Given the description of an element on the screen output the (x, y) to click on. 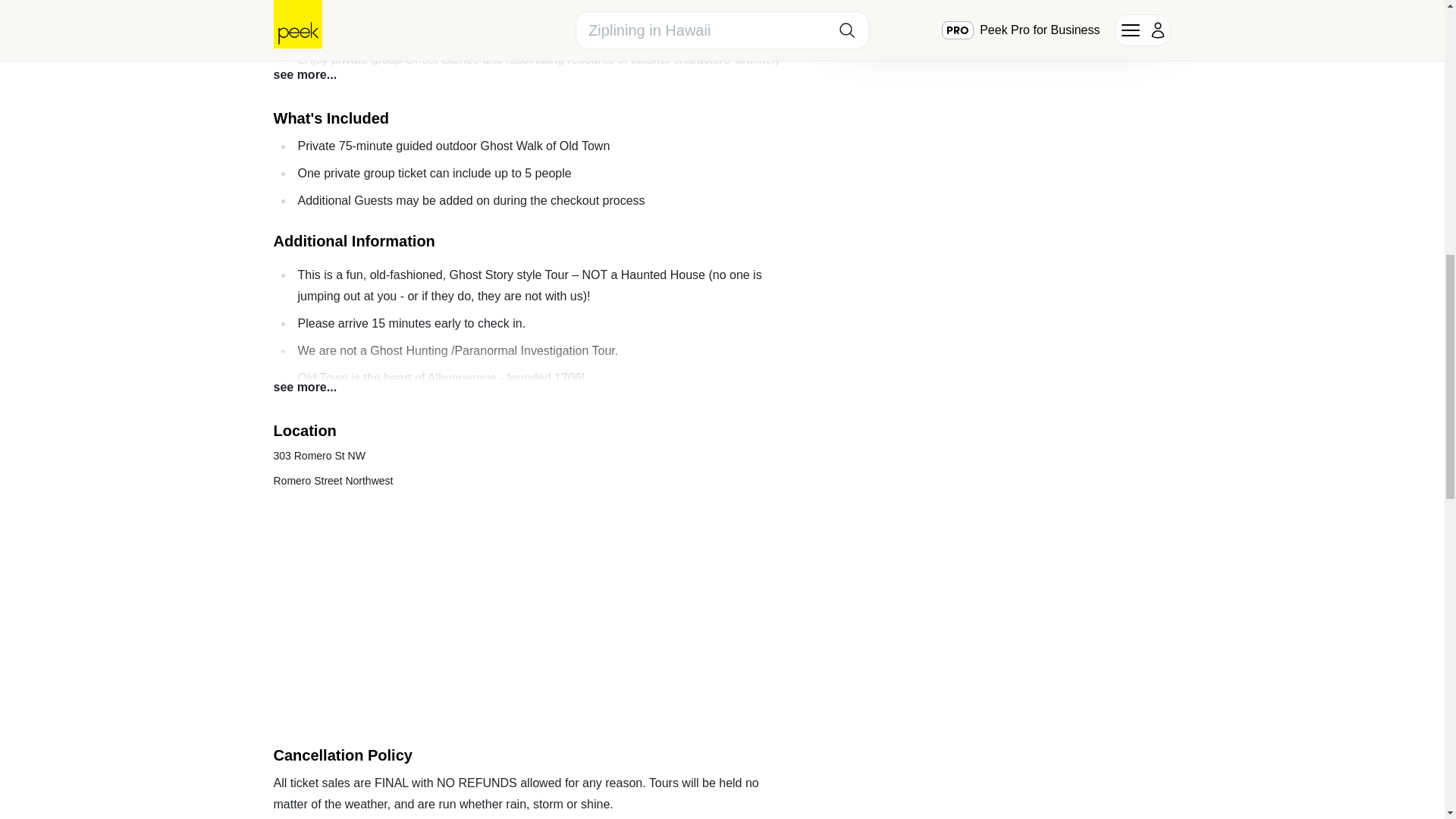
see more... (304, 74)
see more... (304, 387)
